Given the description of an element on the screen output the (x, y) to click on. 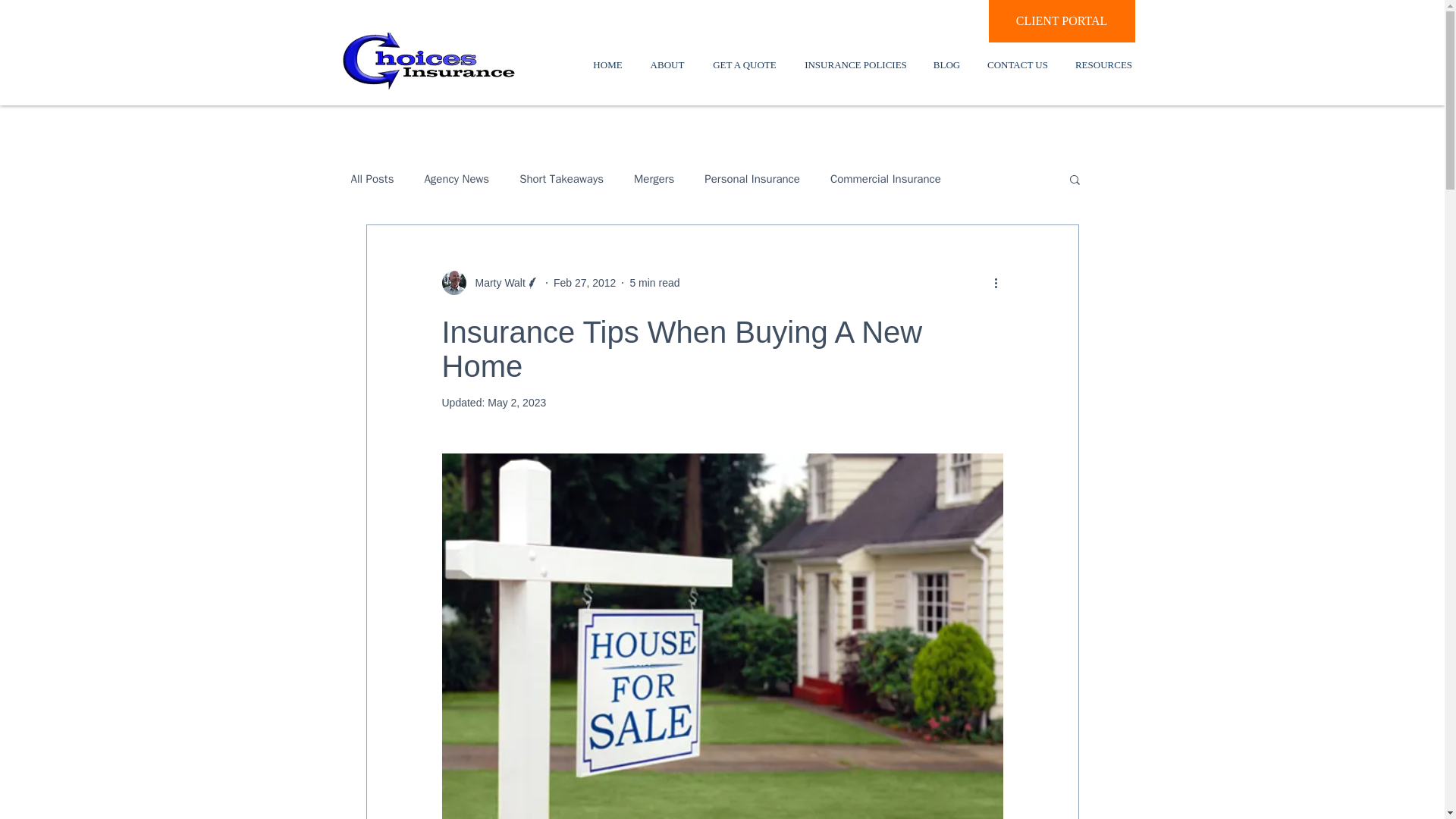
Mergers (653, 178)
May 2, 2023 (516, 402)
Short Takeaways (561, 178)
HOME (608, 64)
INSURANCE POLICIES (856, 64)
All Posts (371, 178)
CLIENT PORTAL (1061, 21)
Marty Walt (494, 282)
5 min read (653, 282)
Agency News (456, 178)
BLOG (947, 64)
GET A QUOTE (743, 64)
CONTACT US (1018, 64)
Personal Insurance (751, 178)
Feb 27, 2012 (584, 282)
